Given the description of an element on the screen output the (x, y) to click on. 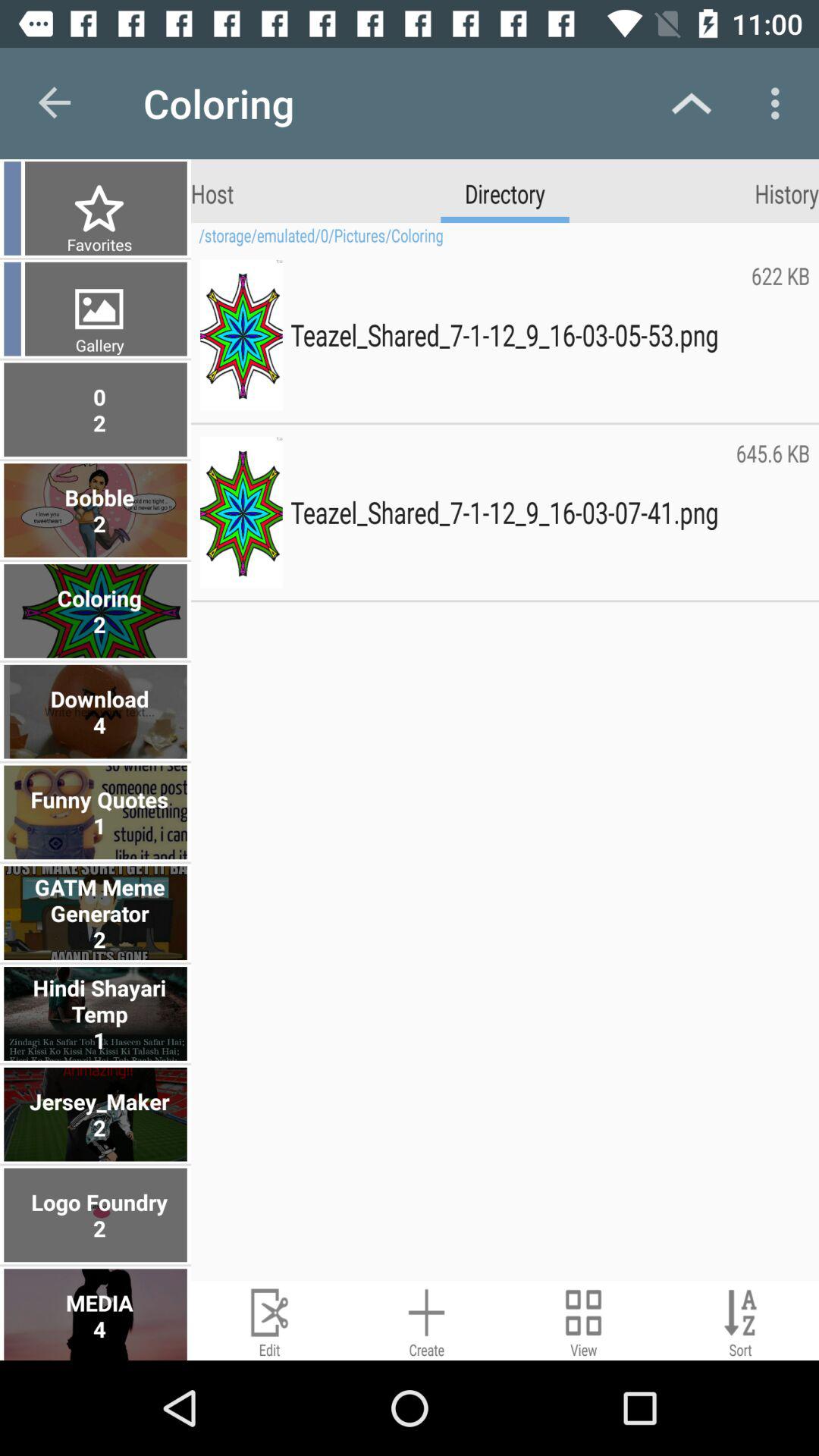
click to edit (269, 1320)
